Given the description of an element on the screen output the (x, y) to click on. 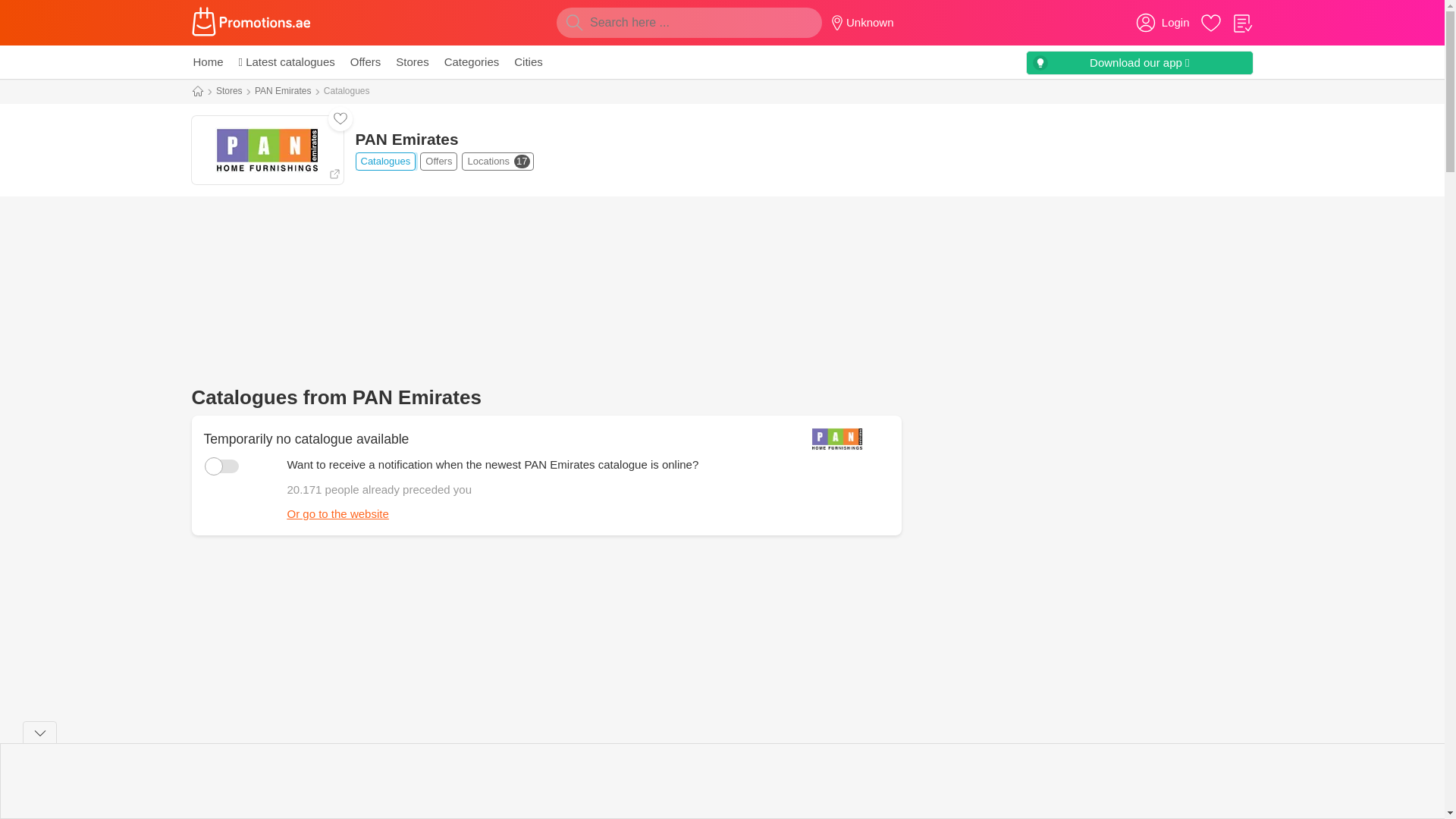
Categories (471, 61)
Stores (446, 161)
Cities (229, 90)
Or go to the website (528, 61)
Stores (337, 513)
Catalogues (273, 798)
Go to website (411, 61)
Offers (632, 798)
